Given the description of an element on the screen output the (x, y) to click on. 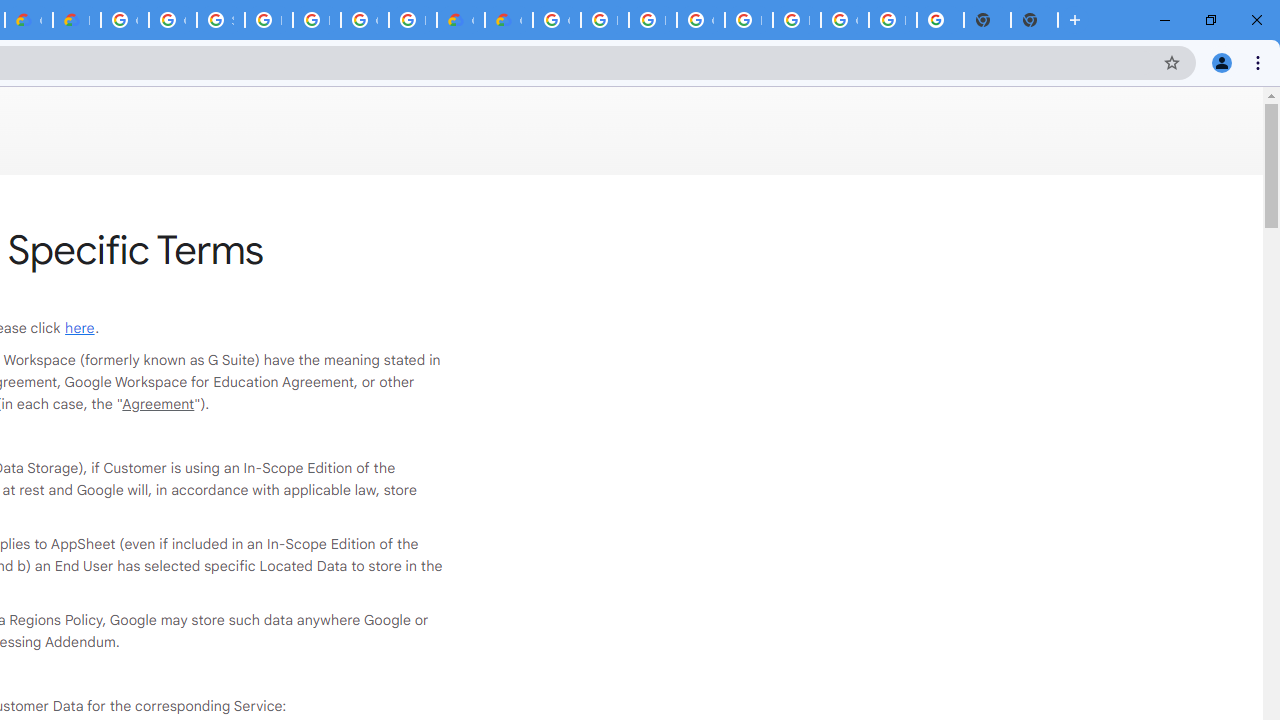
Google Cloud Platform (700, 20)
here (79, 327)
Google Cloud Platform (556, 20)
Browse Chrome as a guest - Computer - Google Chrome Help (604, 20)
Browse Chrome as a guest - Computer - Google Chrome Help (652, 20)
Google Cloud Platform (844, 20)
Google Cloud Estimate Summary (508, 20)
Google Cloud Platform (364, 20)
New Tab (1034, 20)
